Given the description of an element on the screen output the (x, y) to click on. 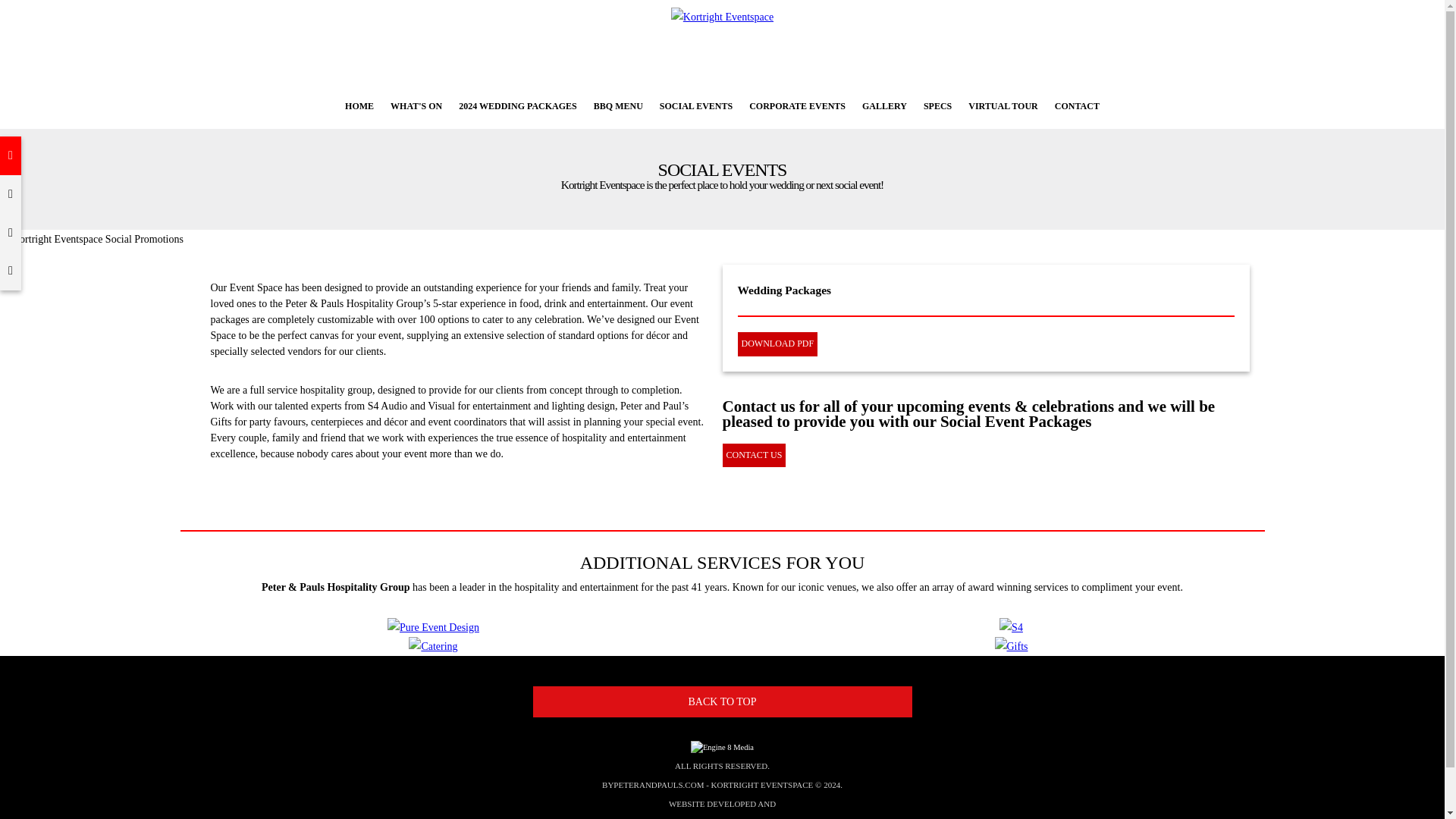
BBQ Menu (617, 106)
Corporate Events (797, 106)
BBQ MENU (617, 106)
Social Events (695, 106)
SPECS (937, 106)
Instagram (10, 270)
VIRTUAL TOUR (1002, 106)
Kortright Eventspace (721, 16)
SOCIAL EVENTS (695, 106)
CONTACT (1077, 106)
Specification (937, 106)
Photo Gallery (884, 106)
Virtual Tour (1002, 106)
Contact Us (1077, 106)
What's on (415, 106)
